Given the description of an element on the screen output the (x, y) to click on. 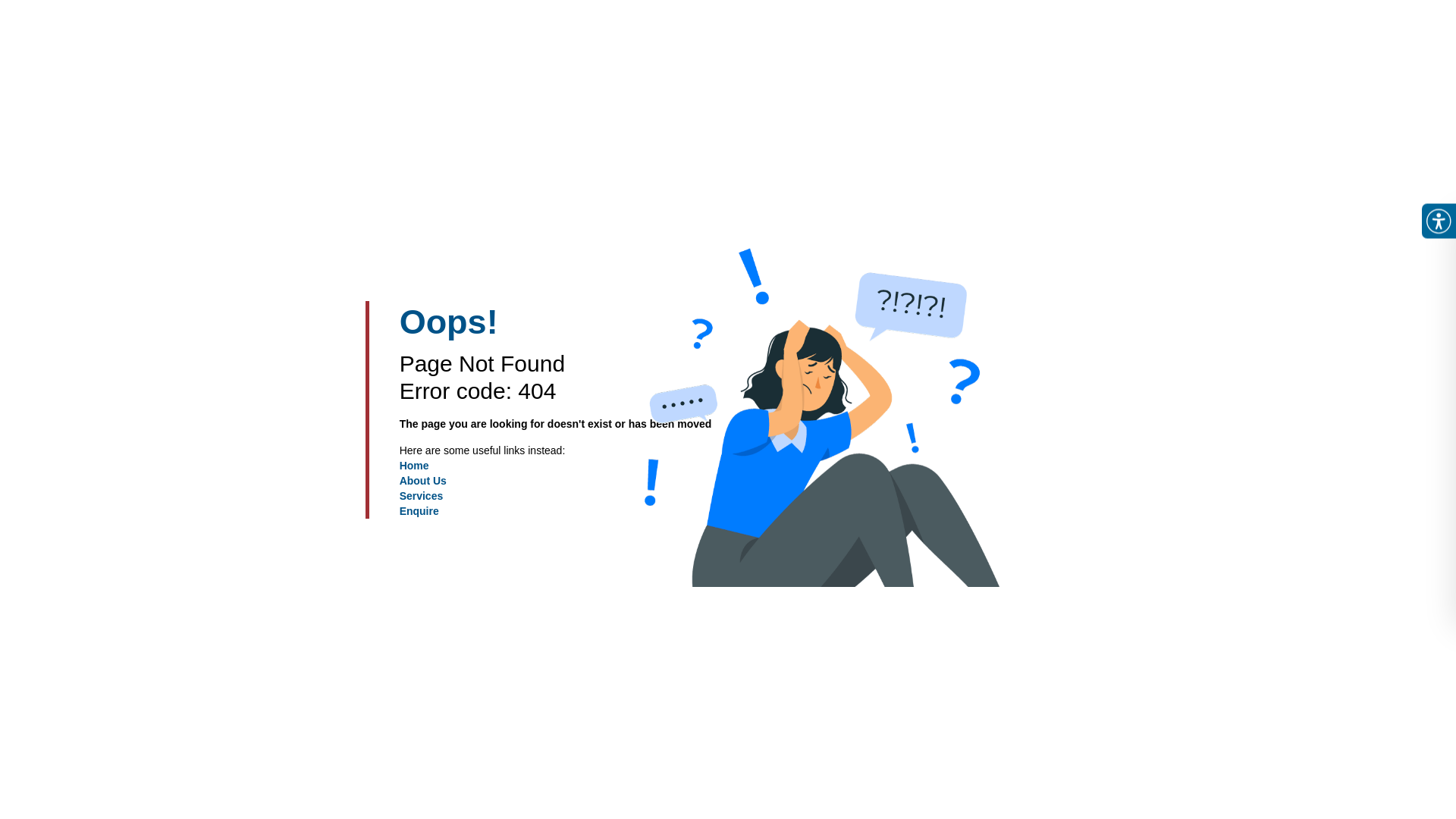
Enquire Element type: text (419, 510)
Services Element type: text (421, 495)
Home Element type: text (414, 465)
About Us Element type: text (422, 480)
